Given the description of an element on the screen output the (x, y) to click on. 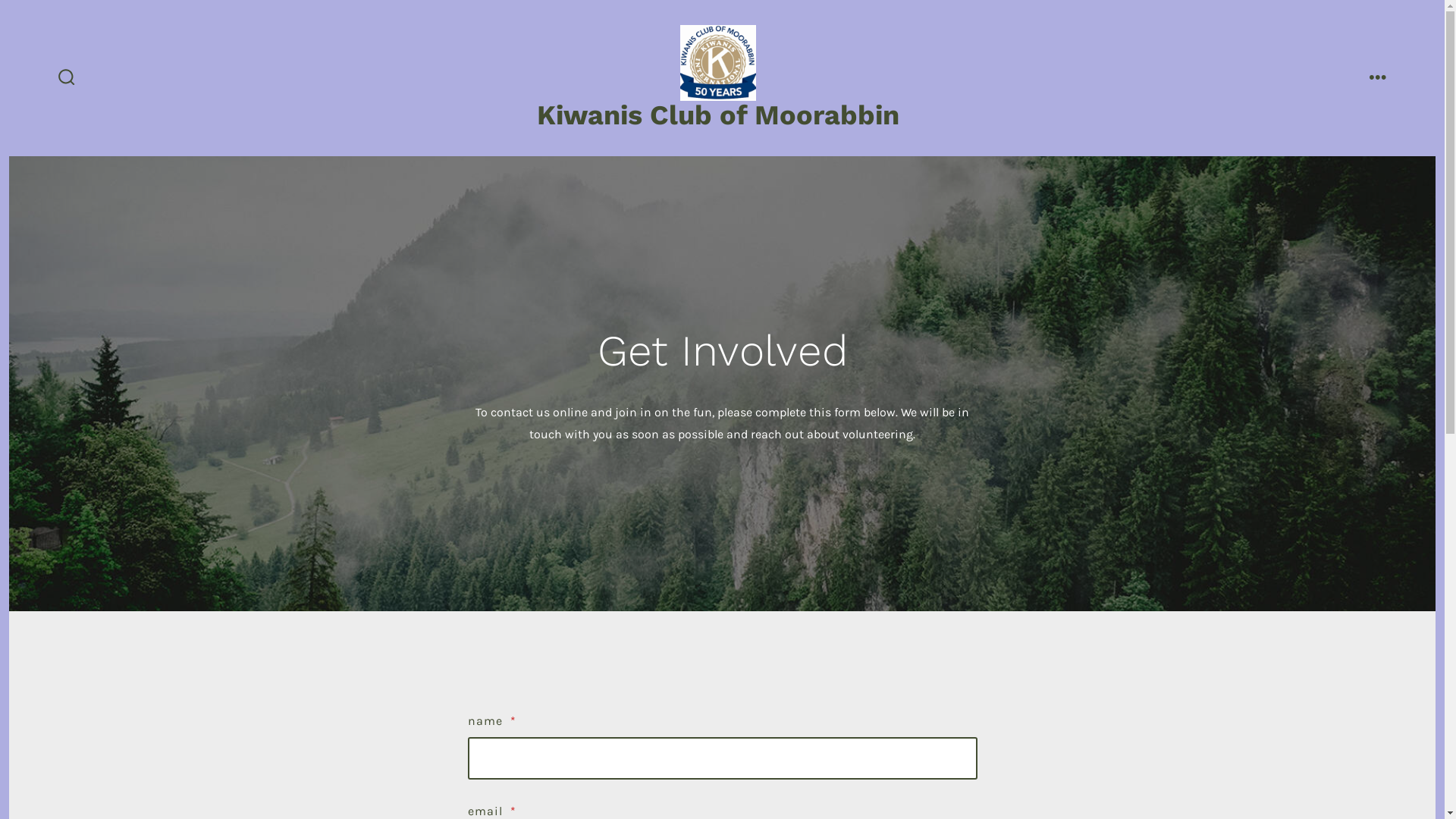
search toggle Element type: text (66, 78)
menu Element type: text (1377, 78)
Kiwanis Club of Moorabbin Element type: text (717, 115)
